Given the description of an element on the screen output the (x, y) to click on. 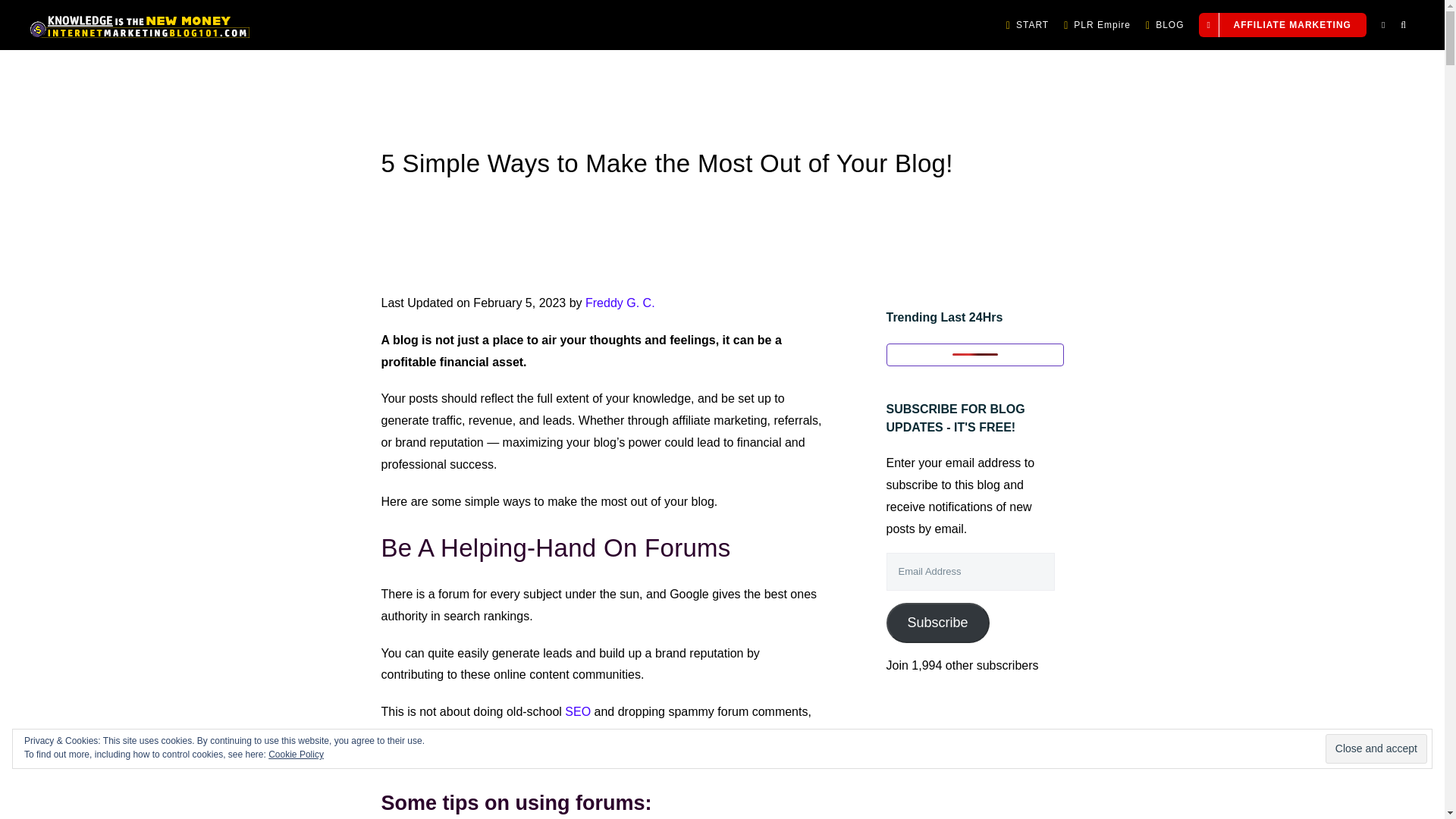
BLOG (1164, 24)
START (1027, 24)
SEO (577, 711)
Freddy G. C. (620, 302)
AFFILIATE MARKETING (1281, 24)
Close and accept (1375, 748)
PLR Empire (1097, 24)
